Given the description of an element on the screen output the (x, y) to click on. 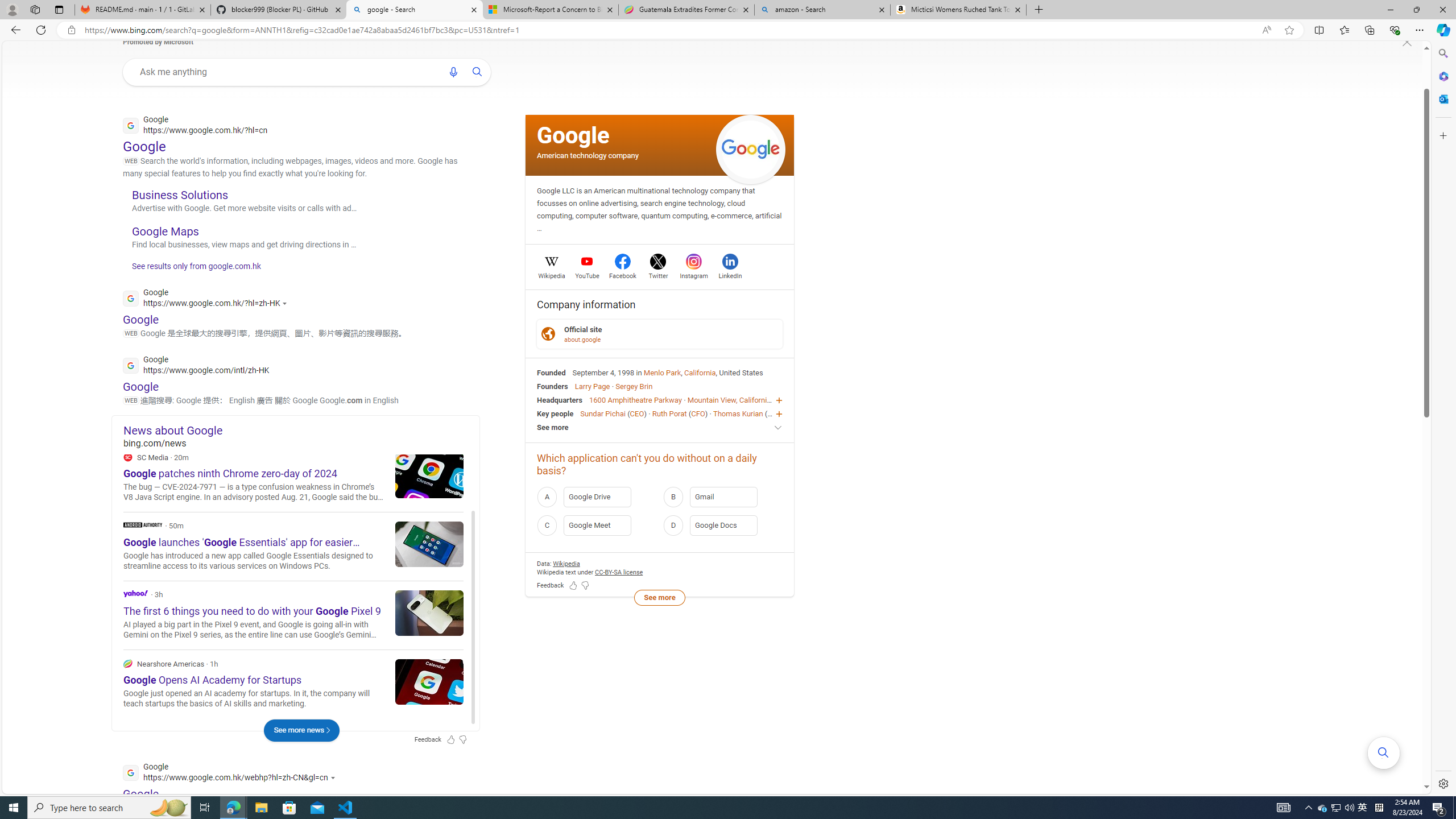
Twitter (658, 274)
Nearshore Americas (293, 683)
CC-BY-SA license (619, 571)
See results only from google.com.hk (191, 268)
Business Solutions (180, 194)
LinkedIn (729, 274)
SC Media (127, 456)
